Given the description of an element on the screen output the (x, y) to click on. 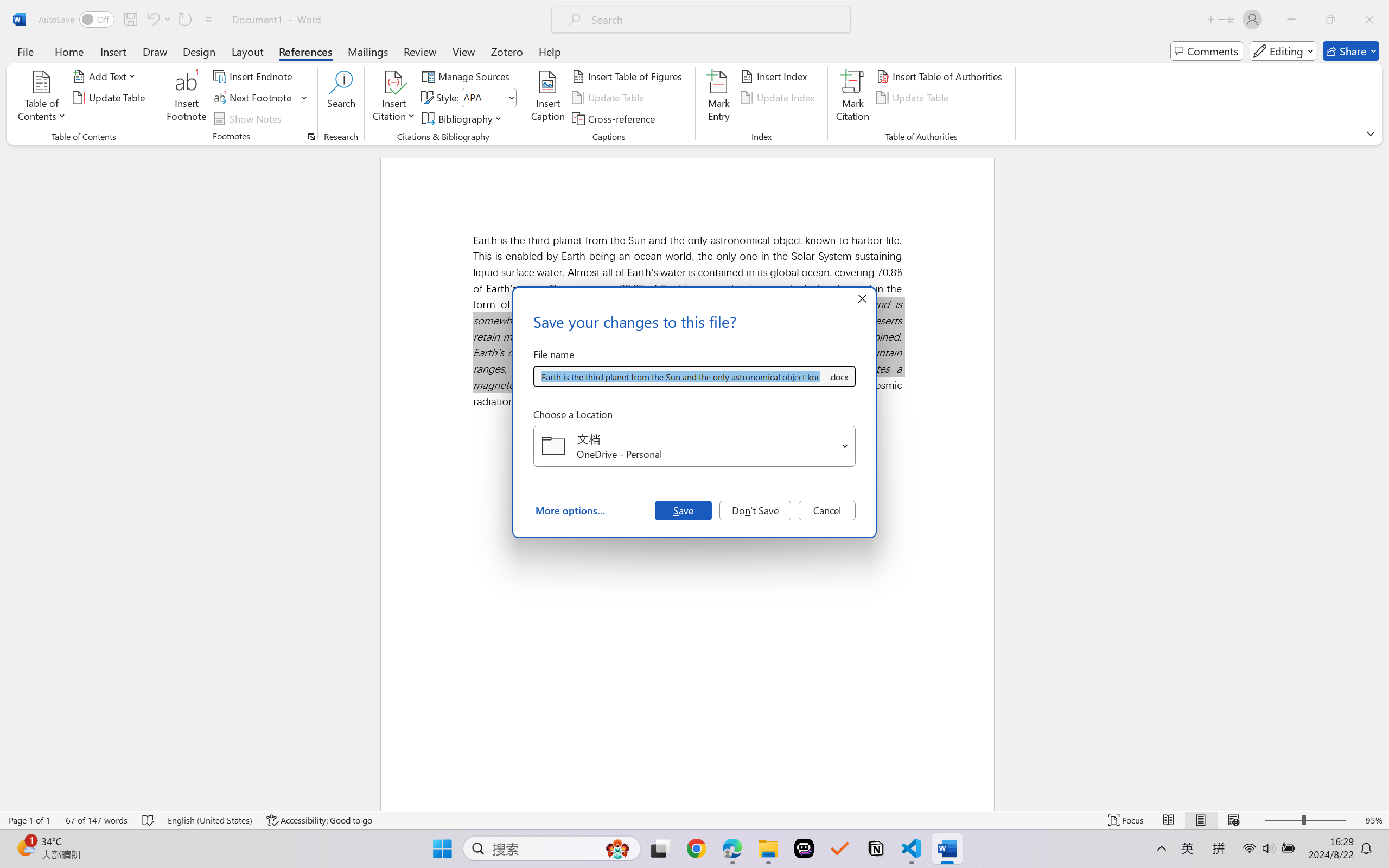
Update Table... (110, 97)
Google Chrome (696, 848)
Insert Table of Authorities... (941, 75)
Insert Table of Figures... (628, 75)
